Given the description of an element on the screen output the (x, y) to click on. 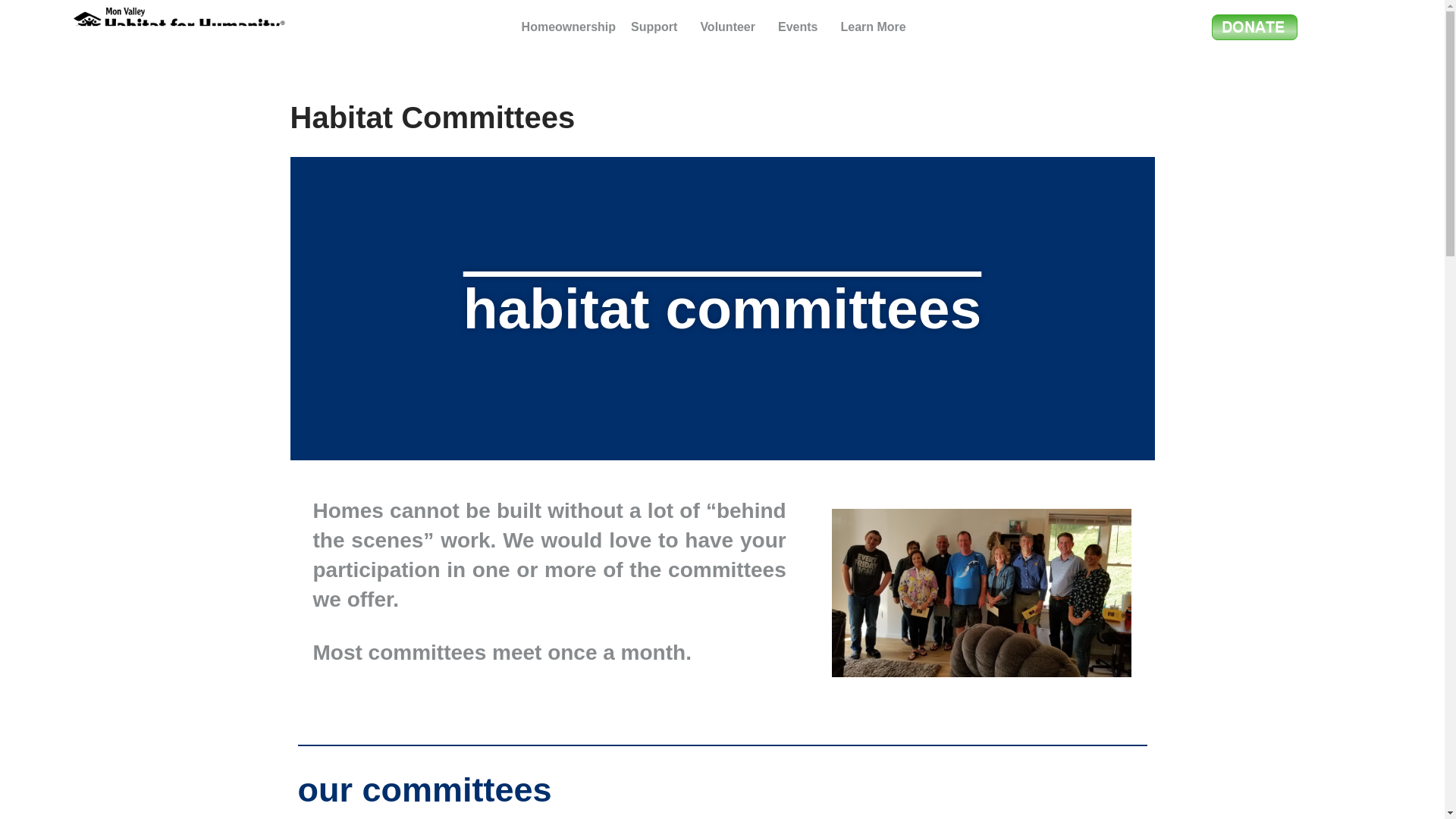
Skip to content (11, 31)
Events (801, 26)
Volunteer (731, 26)
Homeownership (568, 26)
Support (658, 26)
Learn More (876, 26)
